Given the description of an element on the screen output the (x, y) to click on. 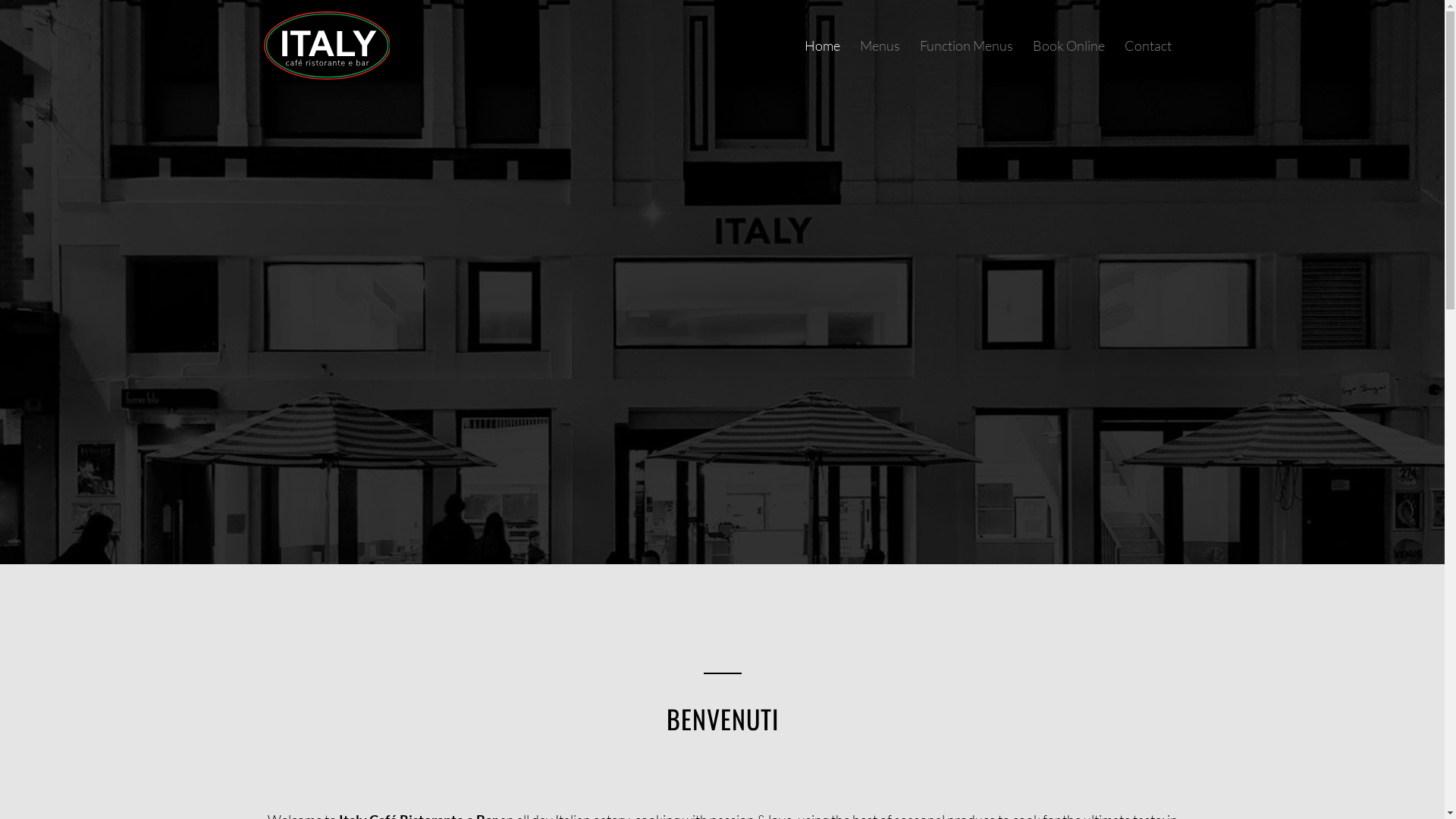
Function Menus Element type: text (966, 45)
Menus Element type: text (879, 45)
Book Online Element type: text (1067, 45)
Contact Element type: text (1147, 45)
Home Element type: text (822, 45)
